Given the description of an element on the screen output the (x, y) to click on. 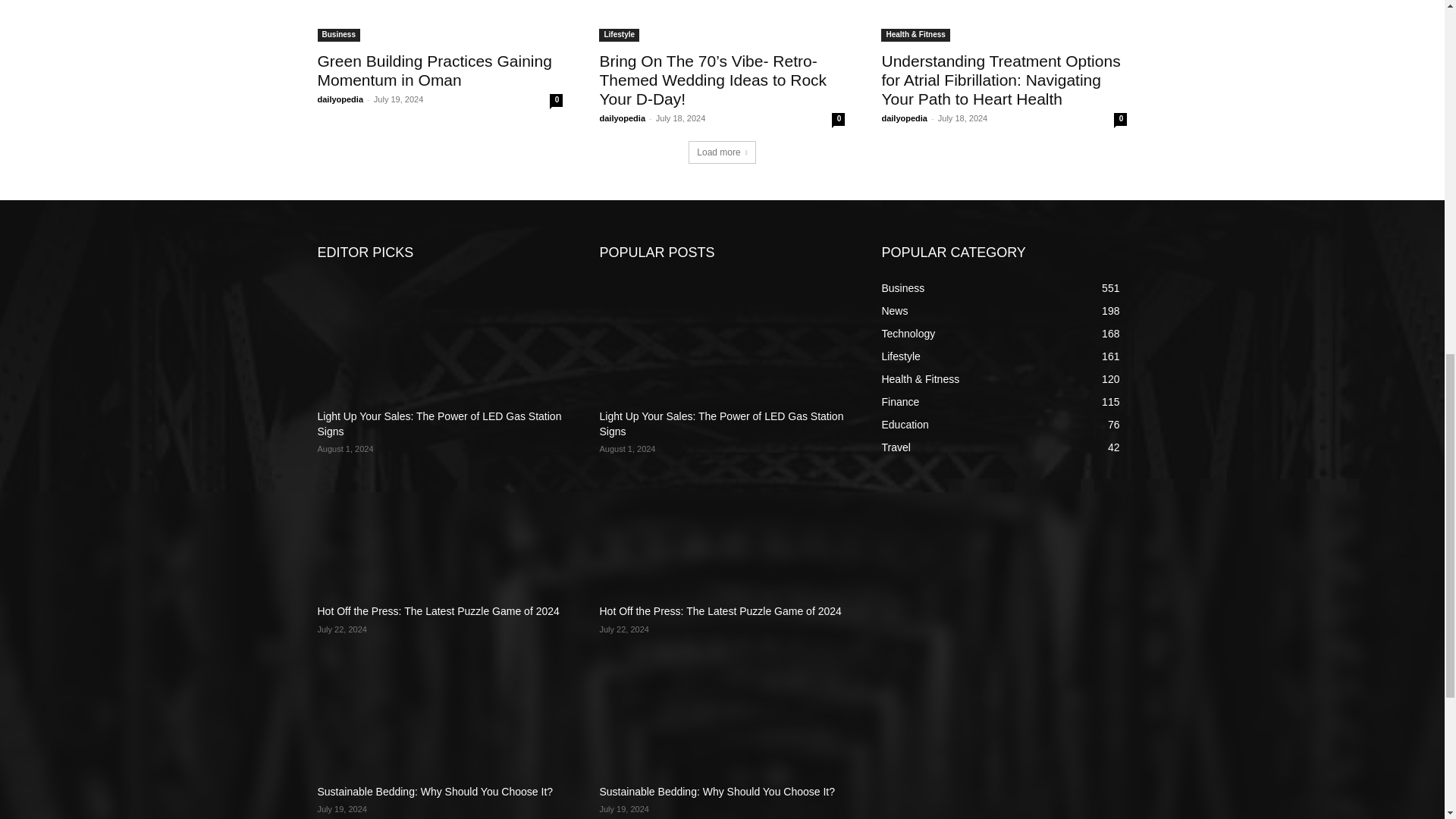
Green Building Practices Gaining Momentum in Oman (434, 70)
Green Building Practices Gaining Momentum in Oman (439, 20)
